Given the description of an element on the screen output the (x, y) to click on. 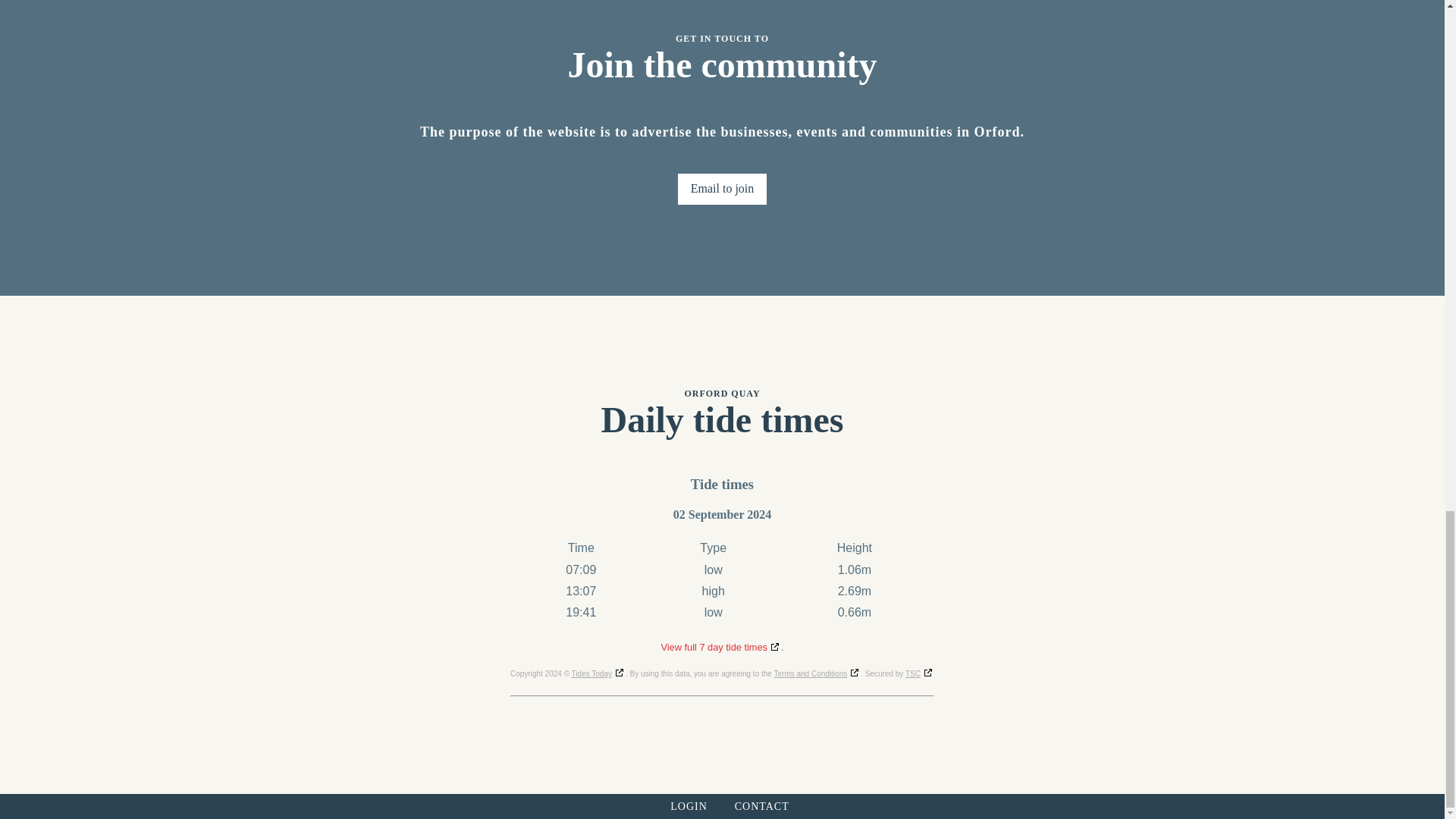
Email to join (722, 188)
TSC (919, 673)
Tides Today (599, 673)
Terms and Conditions (816, 673)
View full 7 day tide times (720, 646)
